Given the description of an element on the screen output the (x, y) to click on. 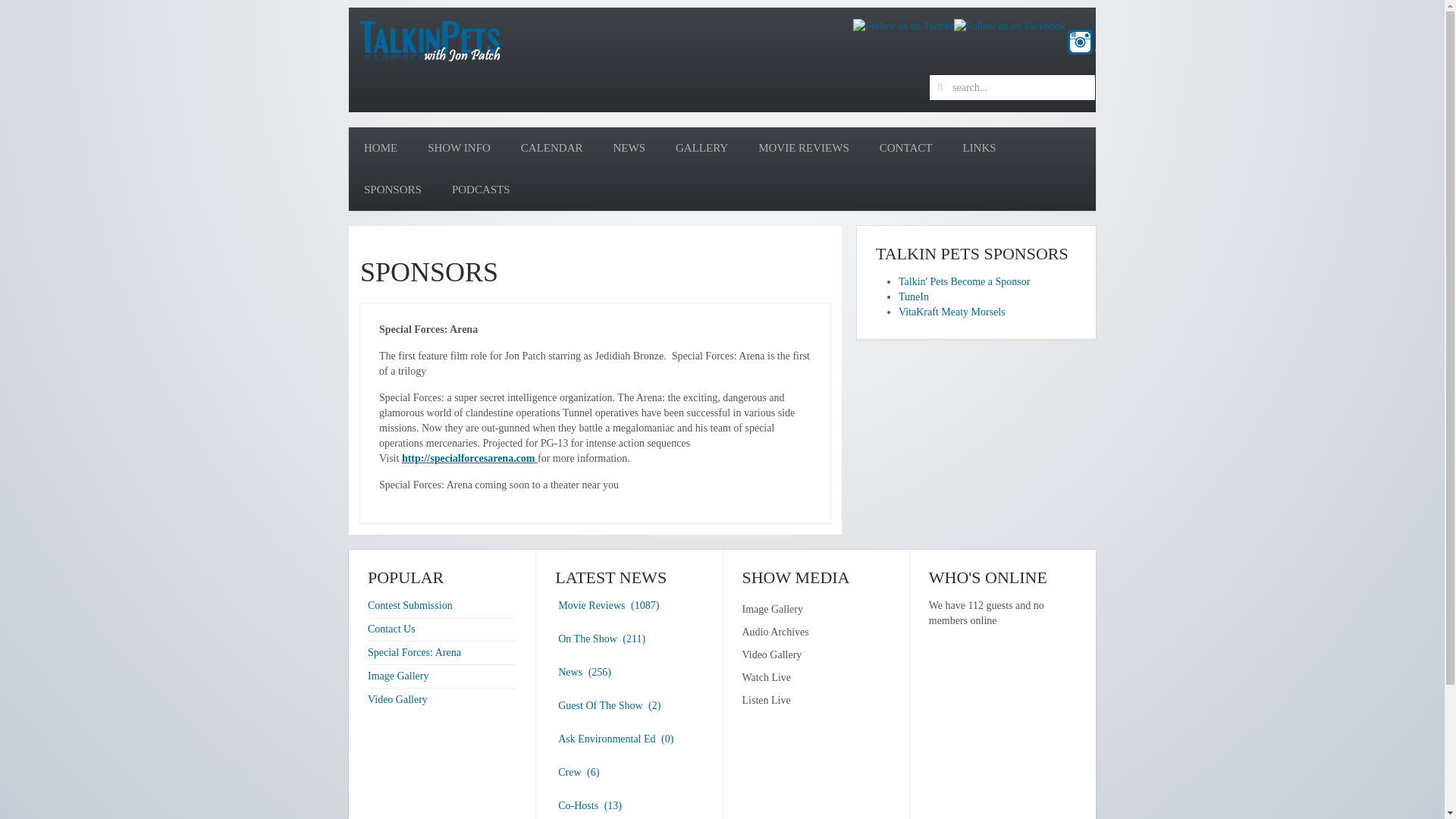
Special Forces: Arena (414, 652)
Contact Us (391, 628)
Follow us on Twitter (903, 26)
PODCASTS (480, 189)
SPONSORS (392, 189)
Talkin' Pets Become a Sponsor (963, 281)
SHOW INFO (458, 147)
Image Gallery (398, 675)
GALLERY (701, 147)
MOVIE REVIEWS (803, 147)
